Given the description of an element on the screen output the (x, y) to click on. 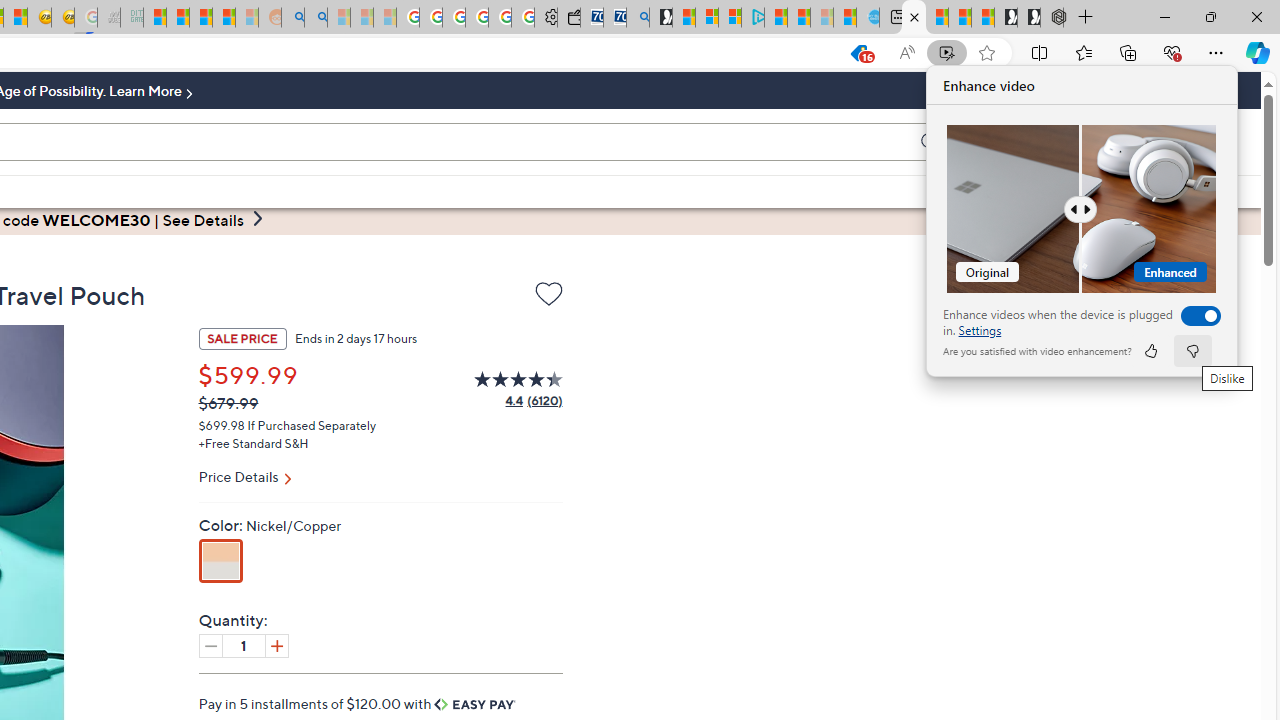
Student Loan Update: Forgiveness Program Ends This Month (223, 17)
Easy Pay (475, 703)
You have the best price! (858, 53)
Pay in 5 installments of $120.00 with Easy Pay (357, 703)
SALE PRICE (242, 337)
Comparision (1081, 209)
